Given the description of an element on the screen output the (x, y) to click on. 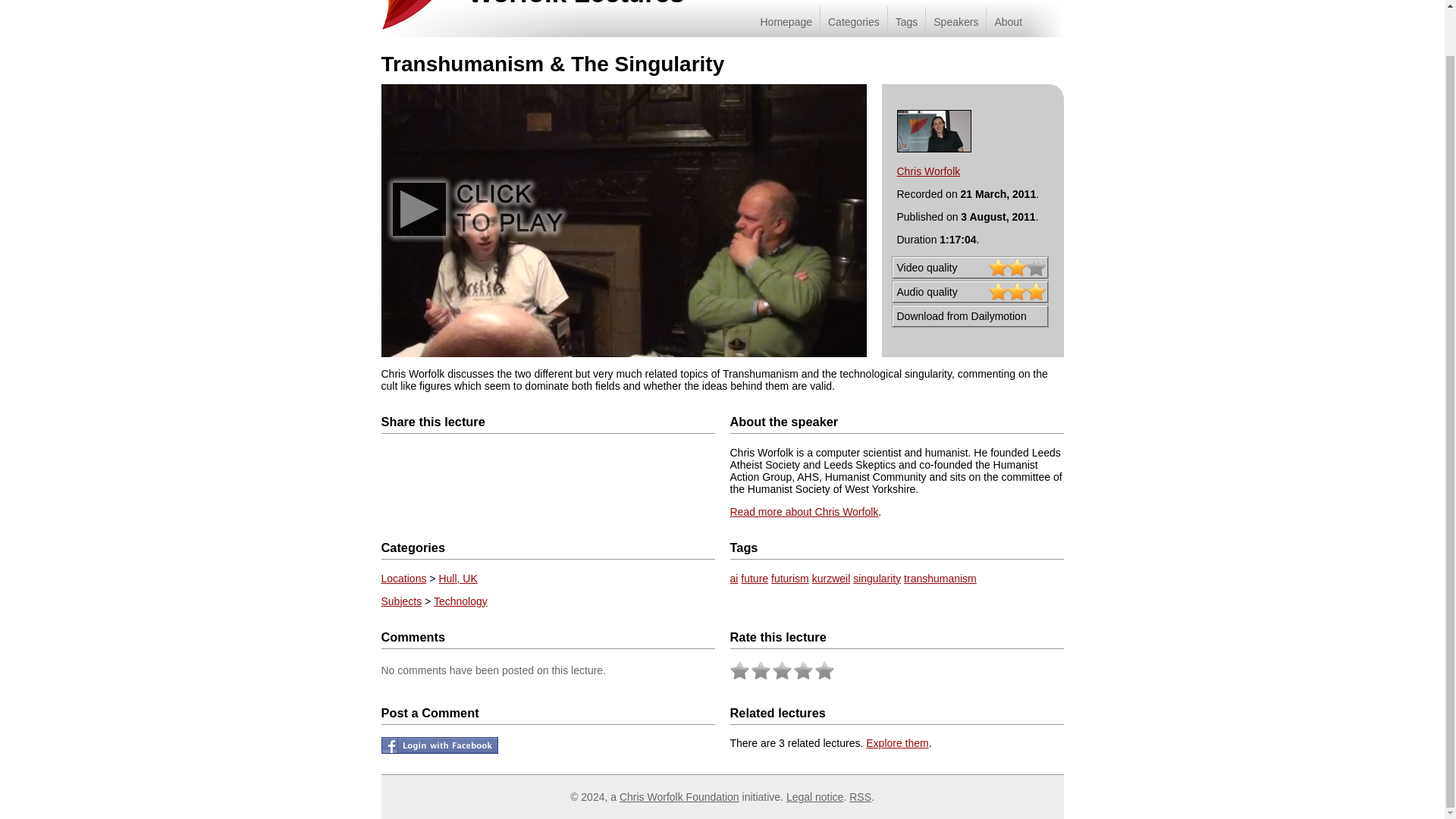
Read more about Chris Worfolk (803, 511)
Technology (460, 600)
Legal notice (815, 797)
Speakers (954, 21)
RSS (859, 797)
Worfolk Lectures (576, 3)
Locations (403, 577)
transhumanism (940, 577)
Subjects (401, 600)
About (1007, 21)
